Given the description of an element on the screen output the (x, y) to click on. 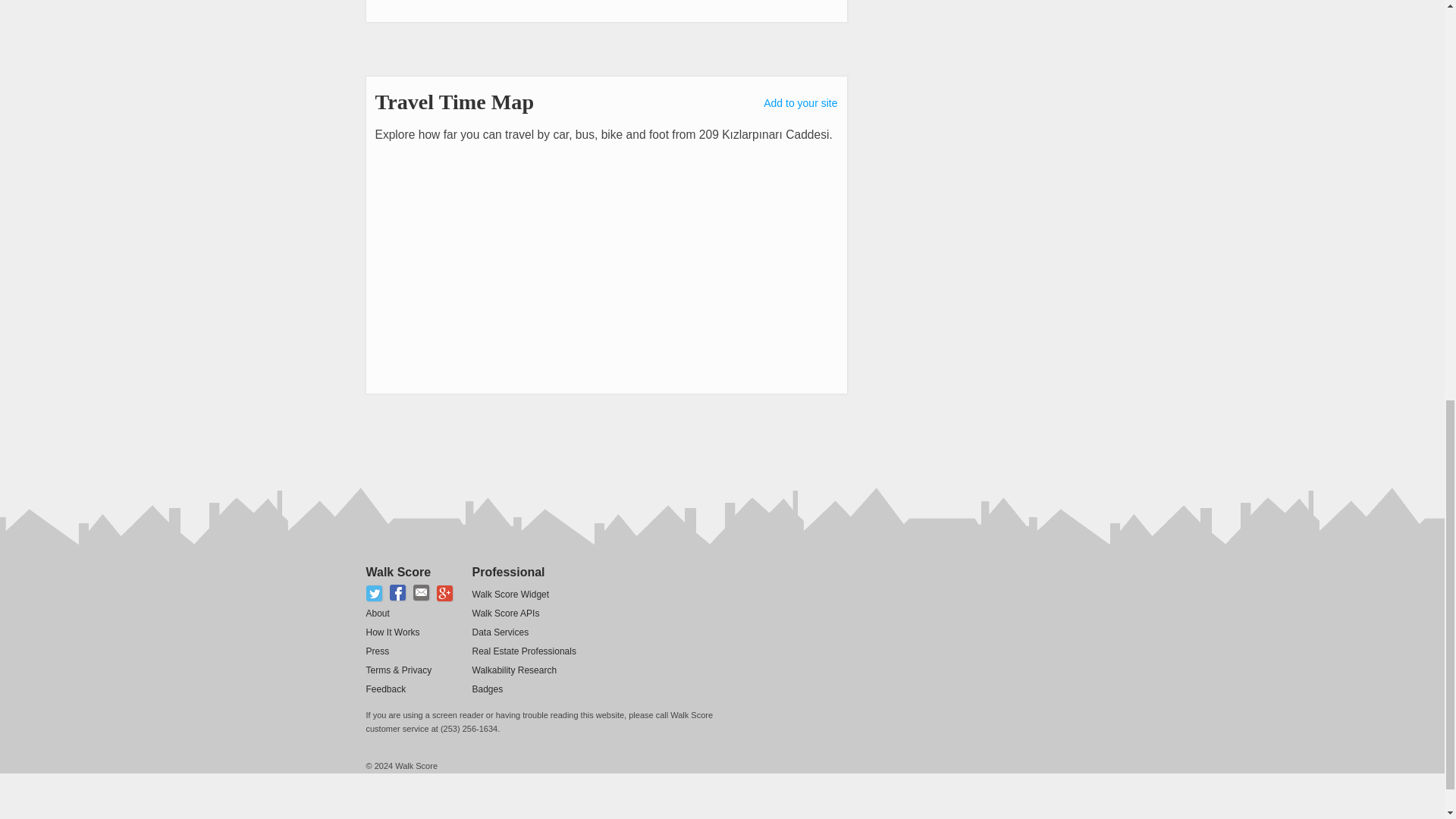
About (376, 613)
Add to your site (799, 102)
Walk Score Widget (509, 593)
Professional (507, 571)
Walk Score (397, 571)
Press (376, 651)
Feedback (385, 688)
How It Works (392, 632)
